Given the description of an element on the screen output the (x, y) to click on. 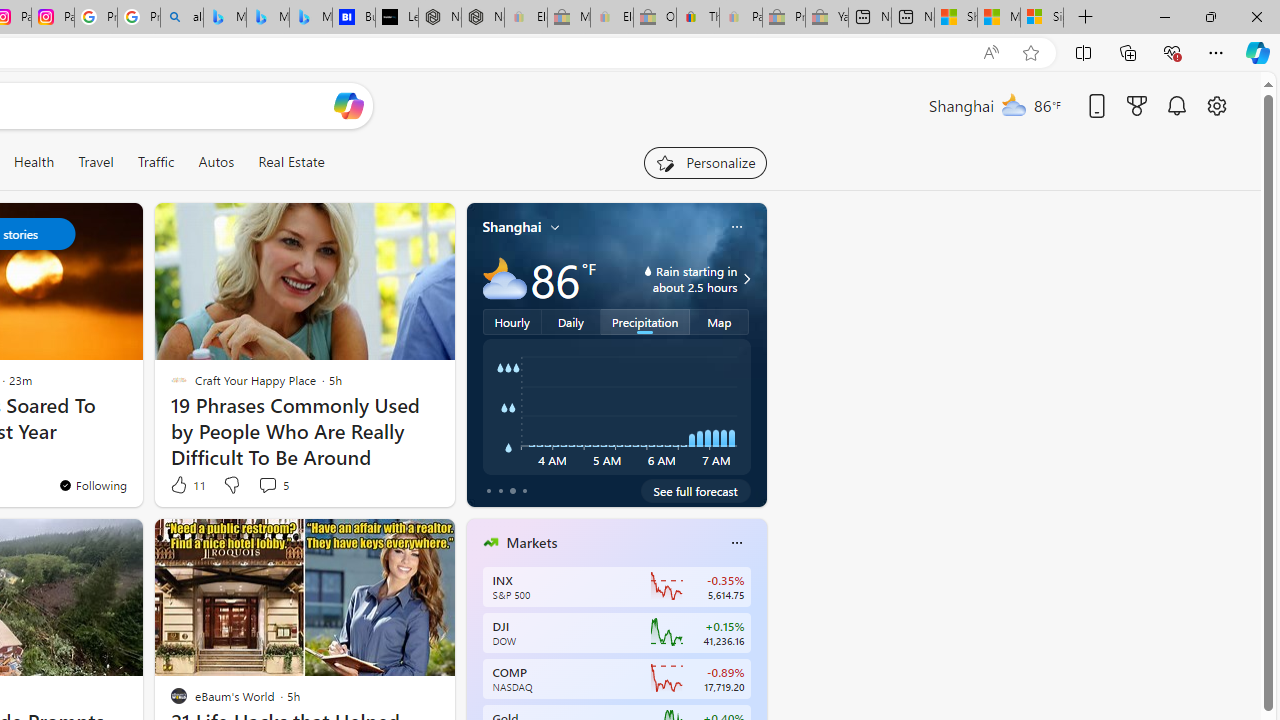
11 Like (186, 484)
Threats and offensive language policy | eBay (698, 17)
Sign in to your Microsoft account (1042, 17)
Traffic (155, 162)
You're following MSNBC (390, 490)
tab-0 (488, 490)
Class: weather-arrow-glyph (746, 278)
View comments 5 Comment (272, 484)
water-drop-icon (648, 270)
